Given the description of an element on the screen output the (x, y) to click on. 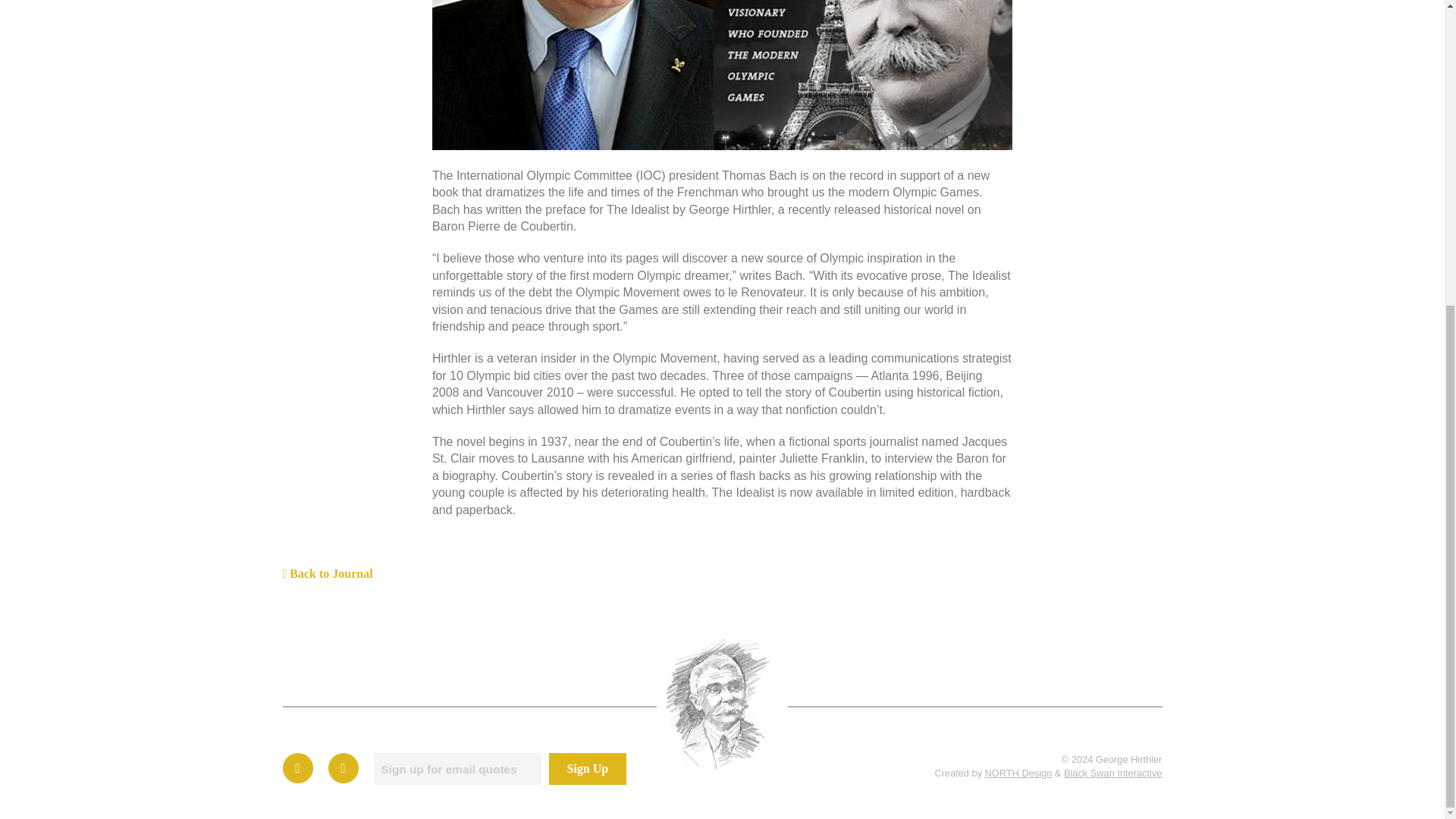
Back to Journal (327, 573)
Black Swan Interactive (1112, 772)
NORTH Design (1018, 772)
Sign Up (587, 768)
